Given the description of an element on the screen output the (x, y) to click on. 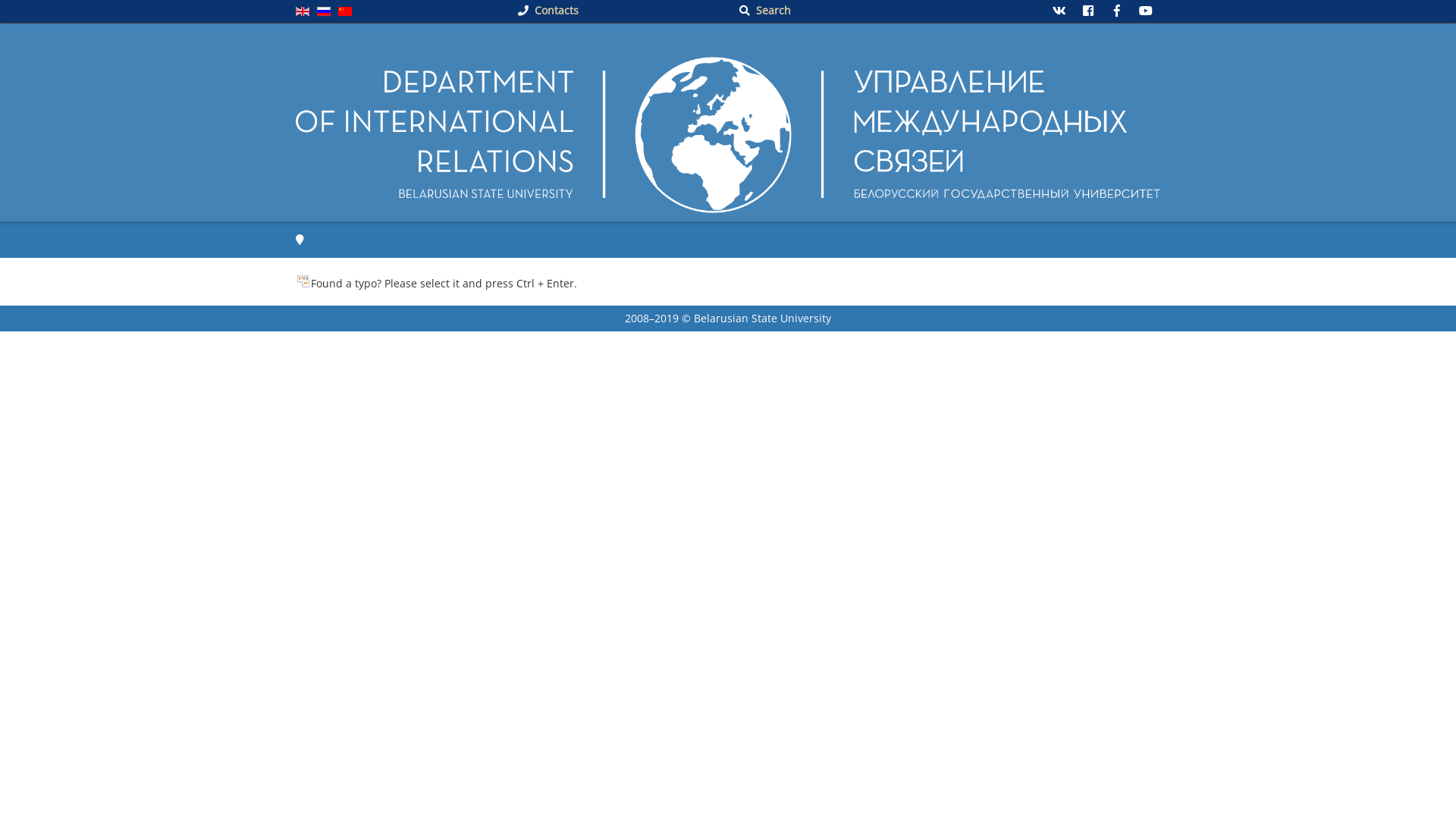
English (UK) Element type: hover (302, 10)
Contacts Element type: text (547, 10)
Search Element type: text (764, 10)
